Given the description of an element on the screen output the (x, y) to click on. 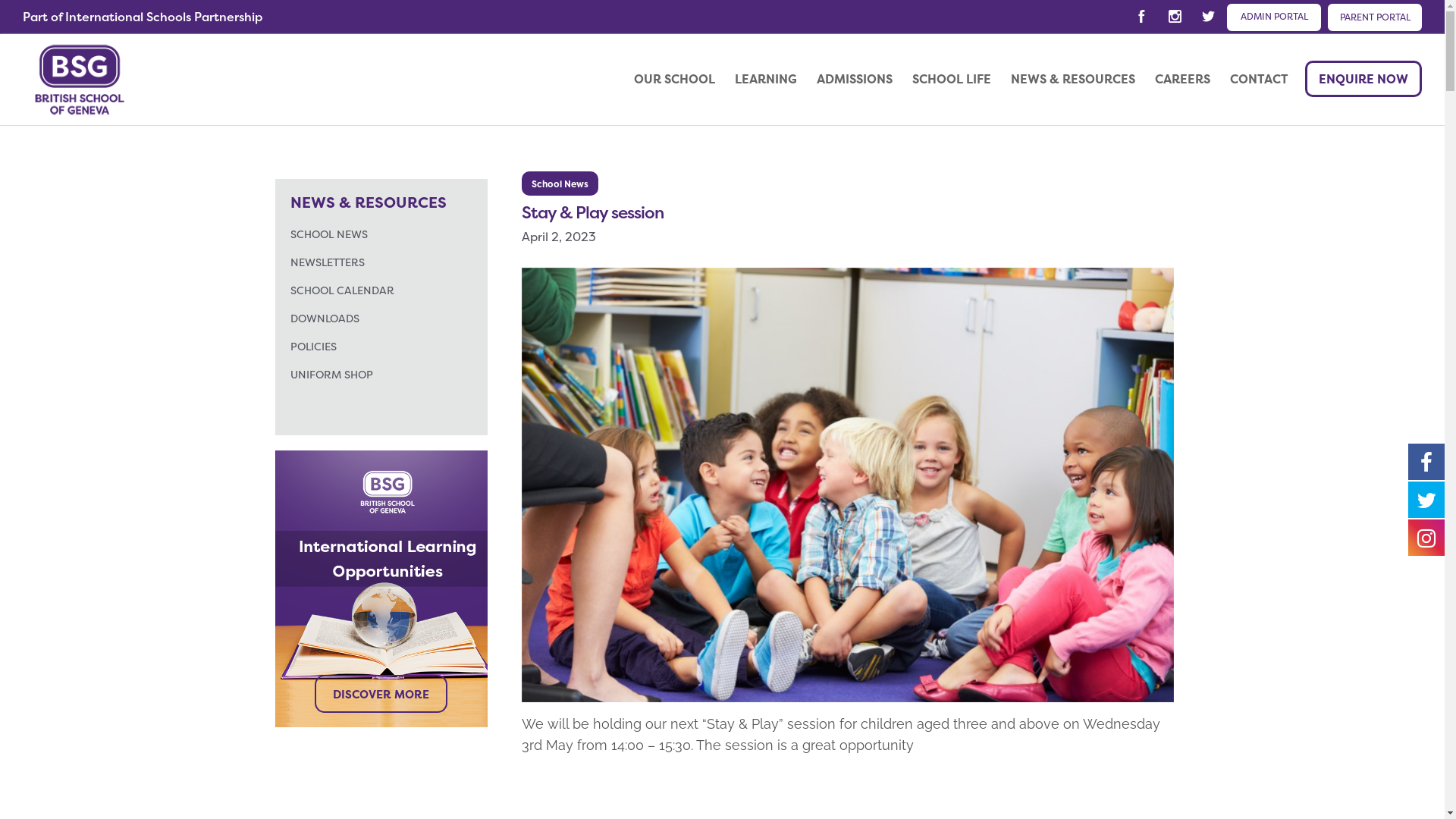
DOWNLOADS Element type: text (323, 319)
Stay & Play session Element type: text (592, 211)
Facebook Element type: hover (1140, 16)
SCHOOL CALENDAR Element type: text (341, 291)
CONTACT Element type: text (1265, 79)
ENQUIRE NOW Element type: text (1363, 78)
ADMISSIONS Element type: text (861, 79)
DISCOVER MORE Element type: text (380, 693)
SCHOOL LIFE Element type: text (958, 79)
LEARNING Element type: text (772, 79)
PARENT PORTAL Element type: text (1374, 17)
SCHOOL NEWS Element type: text (328, 235)
UNIFORM SHOP Element type: text (330, 376)
ADMIN PORTAL Element type: text (1273, 17)
Instagram Element type: hover (1174, 16)
Twitter Element type: hover (1207, 16)
CAREERS Element type: text (1188, 79)
POLICIES Element type: text (312, 347)
OUR SCHOOL Element type: text (680, 79)
School News Element type: text (559, 183)
NEWS & RESOURCES Element type: text (1079, 79)
NEWSLETTERS Element type: text (326, 263)
